Given the description of an element on the screen output the (x, y) to click on. 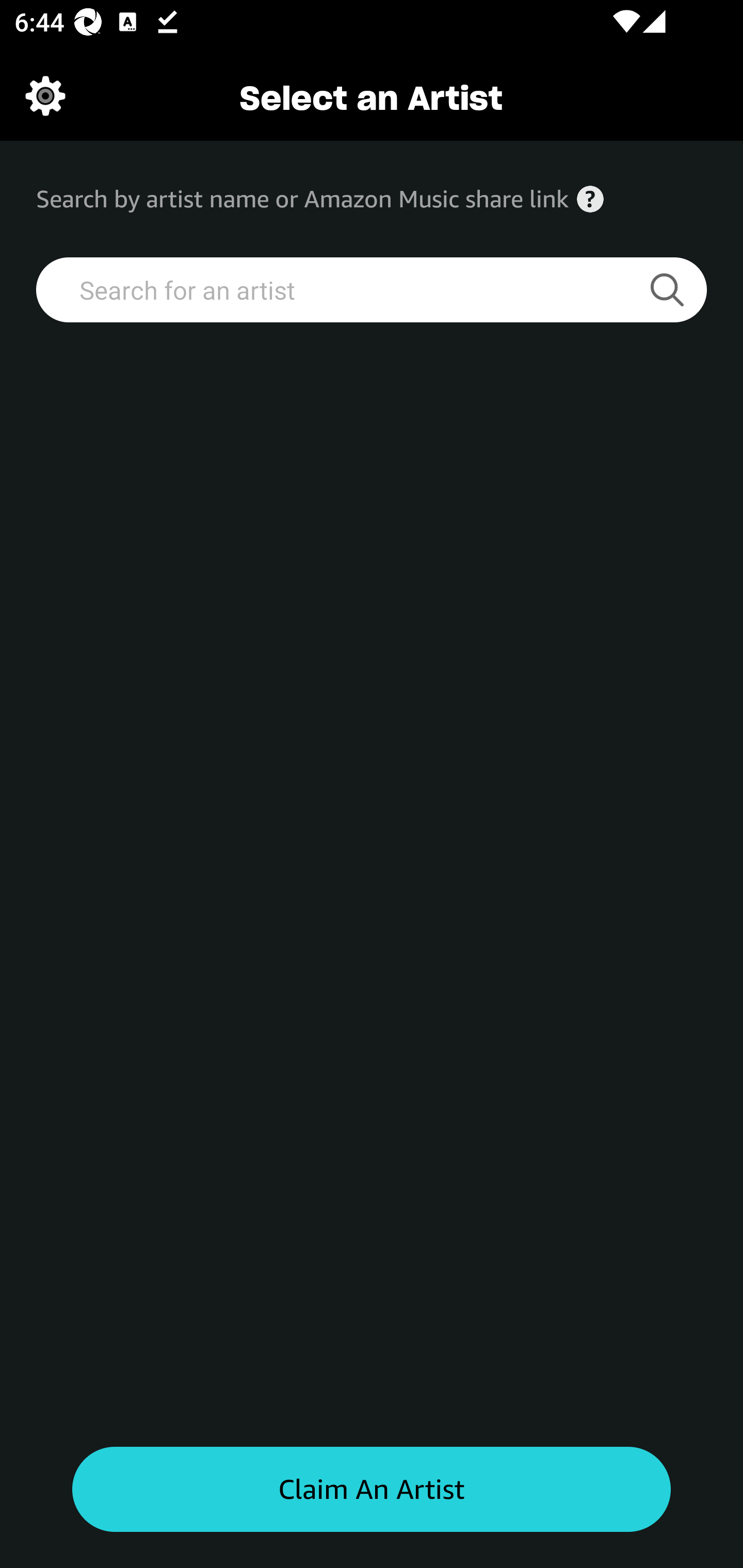
Help  icon (589, 199)
Claim an artist button Claim An Artist (371, 1489)
